Given the description of an element on the screen output the (x, y) to click on. 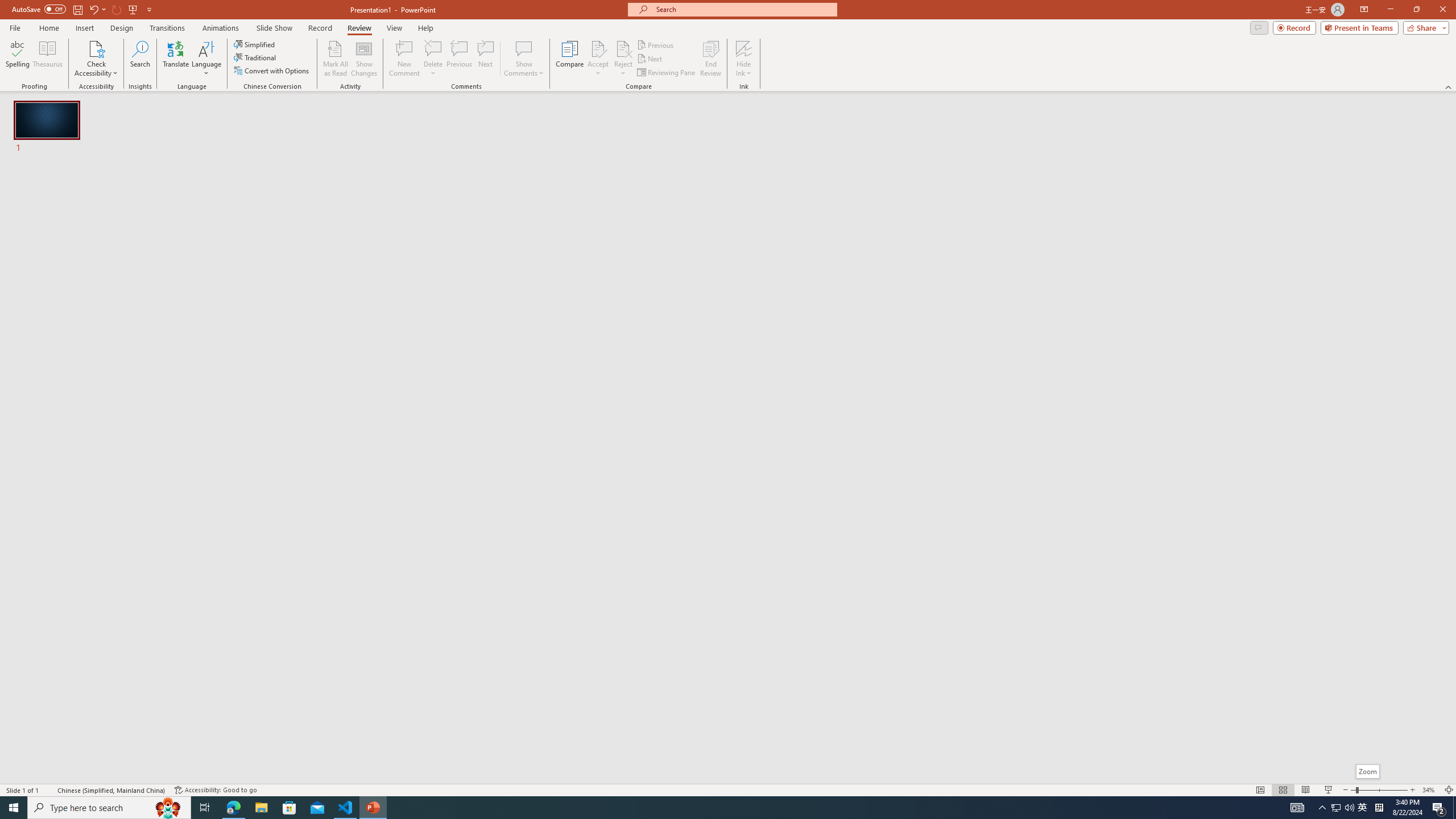
Reject Change (622, 48)
End Review (710, 58)
Spell Check  (49, 790)
Compare (569, 58)
